Given the description of an element on the screen output the (x, y) to click on. 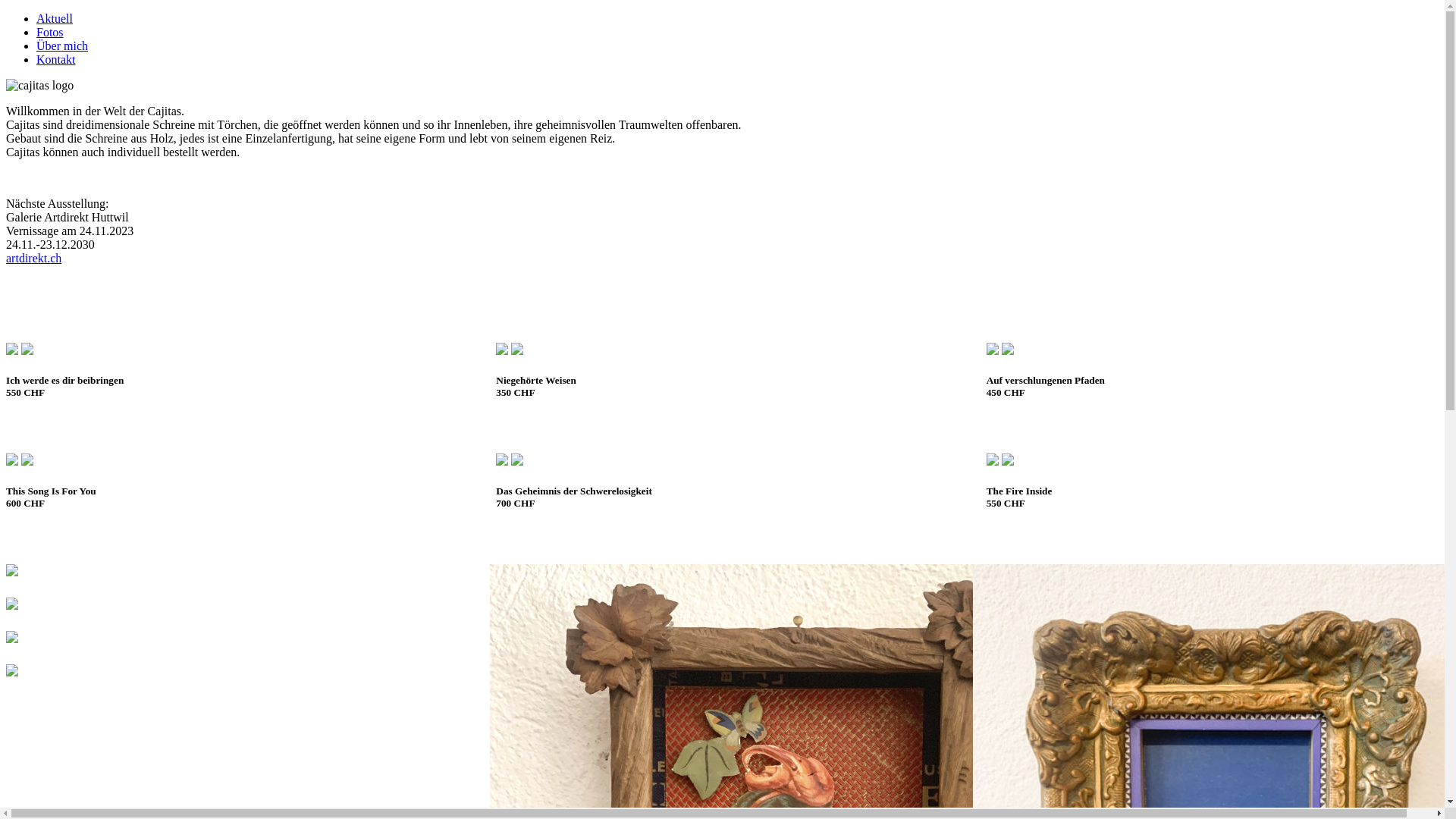
artdirekt.ch Element type: text (33, 257)
Kontakt Element type: text (55, 59)
Aktuell Element type: text (54, 18)
Fotos Element type: text (49, 31)
